Given the description of an element on the screen output the (x, y) to click on. 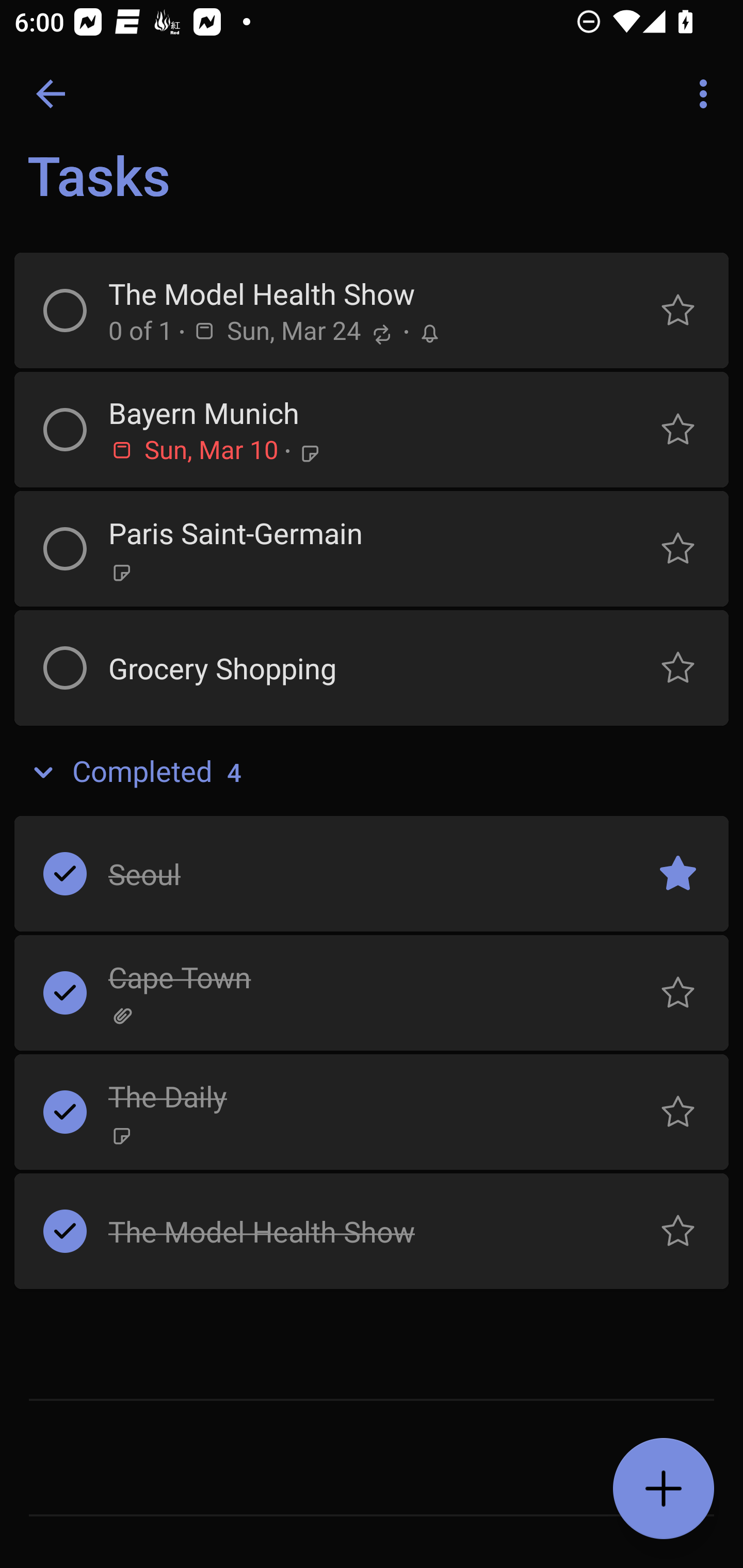
Back (50, 93)
More options (706, 93)
My Day, 0 tasks (182, 187)
Incomplete task The Model Health Show, Button (64, 310)
Normal task The Model Health Show, Button (677, 310)
The Model Health Show (356, 293)
Incomplete task Bayern Munich, Button (64, 429)
Normal task Bayern Munich, Button (677, 429)
Bayern Munich (356, 412)
Incomplete task Paris Saint-Germain, Button (64, 548)
Normal task Paris Saint-Germain, Button (677, 548)
Paris Saint-Germain (356, 531)
Incomplete task Grocery Shopping, Button (64, 667)
Normal task Grocery Shopping, Button (677, 667)
Grocery Shopping (356, 666)
Completed, 4 items, Expanded Completed 4 (371, 772)
Completed task Seoul, Button (64, 874)
Important task Seoul, Button (677, 874)
Seoul (356, 873)
Completed task Cape Town, Button (64, 993)
Normal task Cape Town, Button (677, 993)
Cape Town (356, 977)
Completed task The Daily, Button (64, 1112)
Normal task The Daily, Button (677, 1112)
The Daily (356, 1096)
Completed task The Model Health Show, Button (64, 1231)
Normal task The Model Health Show, Button (677, 1231)
The Model Health Show (356, 1231)
Add a task (663, 1488)
